Given the description of an element on the screen output the (x, y) to click on. 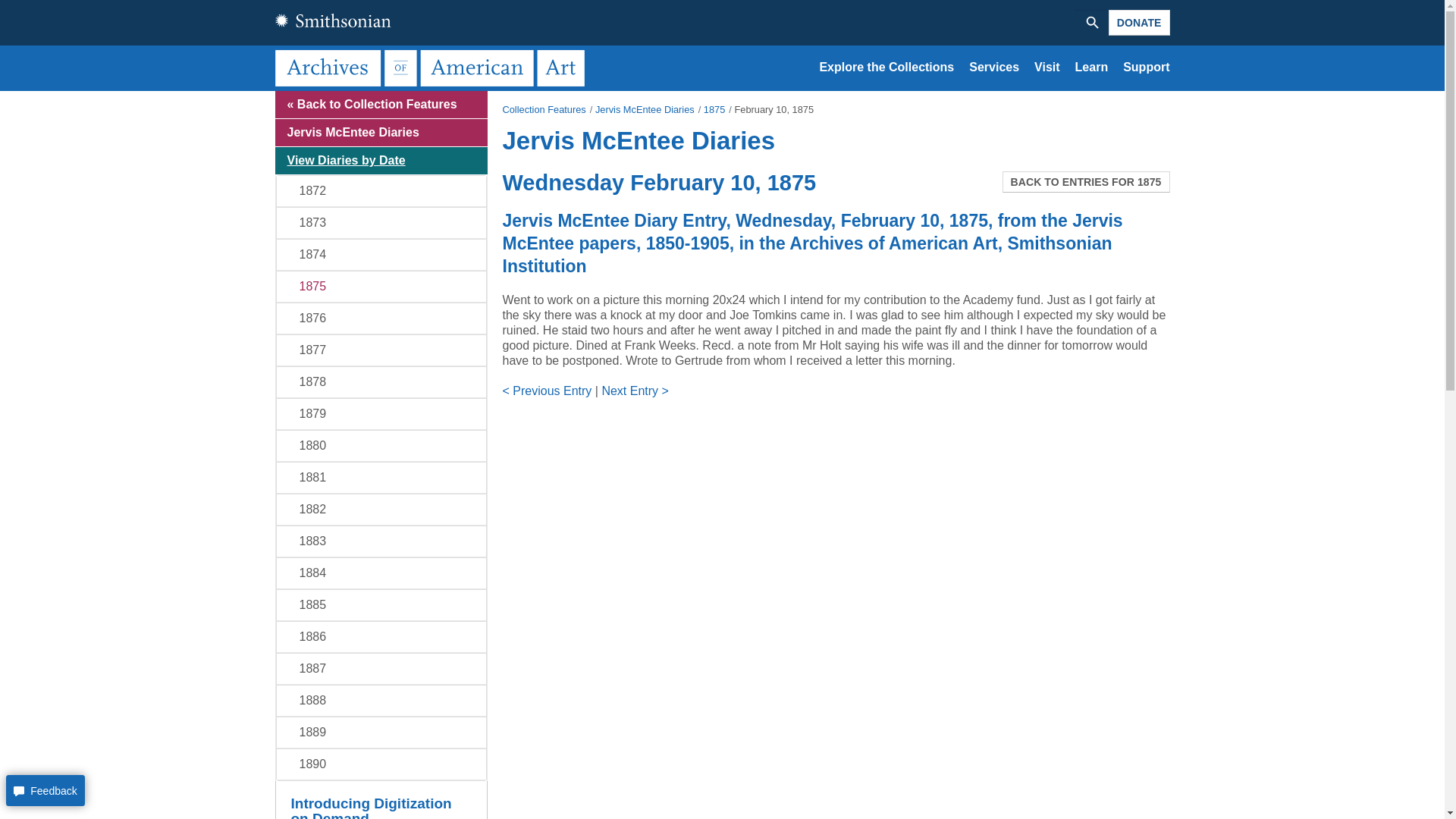
DONATE (1139, 22)
Skip to main content (721, 91)
Archives of American Art, Smithsonian Institution (432, 67)
Explore the Collections (885, 67)
Records and Resources (885, 67)
Home (432, 67)
Services (994, 67)
